Given the description of an element on the screen output the (x, y) to click on. 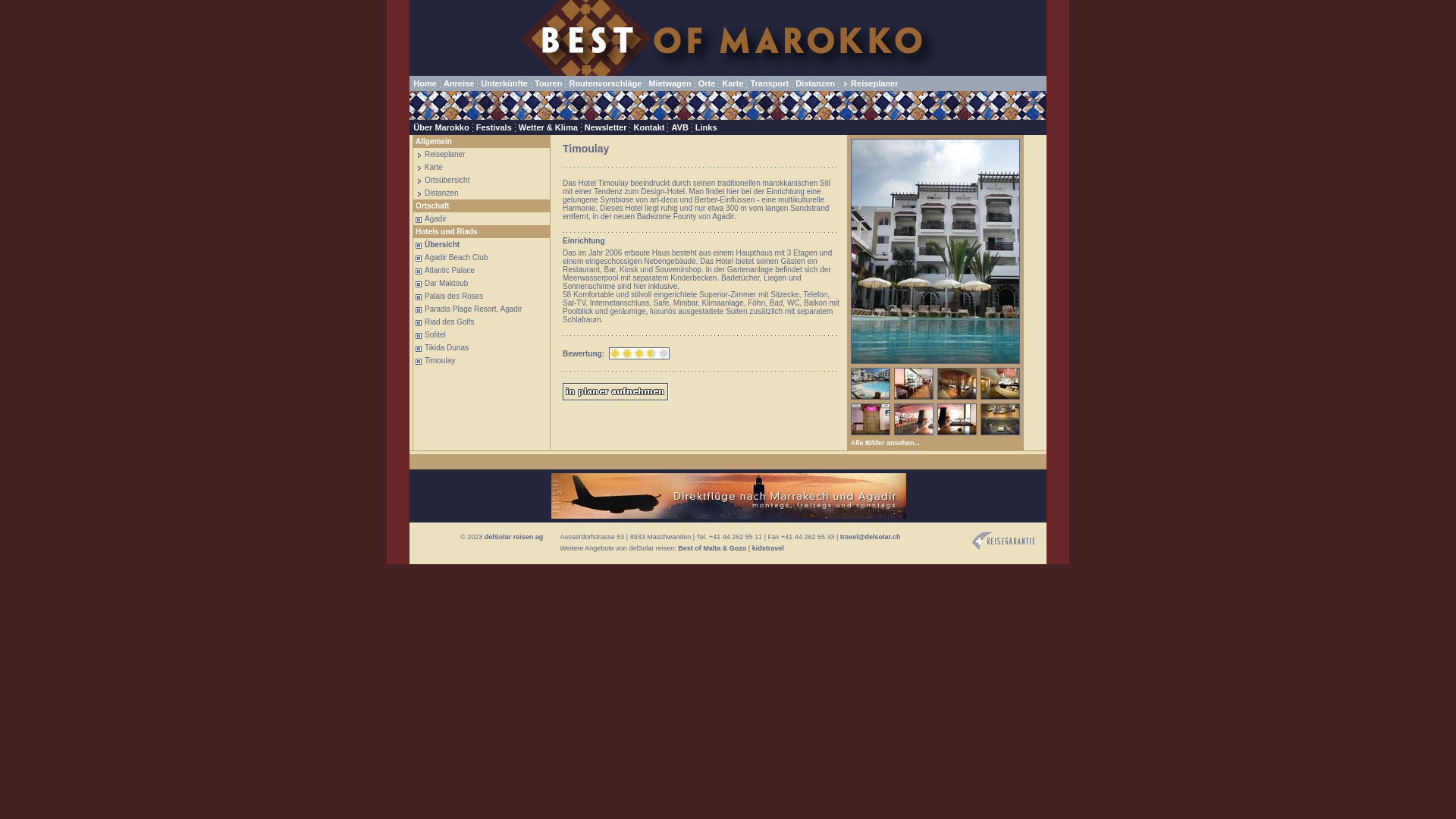
Riad des Golfs Element type: text (444, 321)
kidstravel Element type: text (768, 548)
Paradis Plage Resort, Agadir Element type: text (468, 308)
Reisegarantie Element type: text (1003, 540)
Best of Malta & Gozo Element type: text (711, 548)
Distanzen Element type: text (814, 82)
Reiseplaner Element type: text (439, 154)
Wetter & Klima Element type: text (547, 126)
In Reiseplaner aufnehmen Element type: hover (615, 391)
Atlantic Palace Element type: text (444, 270)
Anreise Element type: text (458, 82)
Alle Bilder ansehen... Element type: text (884, 442)
Agadir Element type: text (430, 218)
Mietwagen Element type: text (669, 82)
Palais des Roses Element type: text (449, 295)
Touren Element type: text (547, 82)
travel@delsolar.ch Element type: text (870, 536)
Dar Maktoub Element type: text (441, 283)
Newsletter Element type: text (605, 126)
Kontakt Element type: text (648, 126)
Timoulay Element type: text (435, 360)
Home Element type: text (424, 82)
Reiseplaner Element type: text (869, 82)
Sofitel Element type: text (430, 334)
Tikida Dunas Element type: text (441, 347)
AVB Element type: text (679, 126)
Distanzen Element type: text (436, 192)
Festivals Element type: text (493, 126)
Links Element type: text (706, 126)
delSolar reisen ag Element type: text (513, 536)
Orte Element type: text (706, 82)
Transport Element type: text (768, 82)
Karte Element type: text (732, 82)
Karte Element type: text (428, 167)
Agadir Beach Club Element type: text (451, 257)
